Given the description of an element on the screen output the (x, y) to click on. 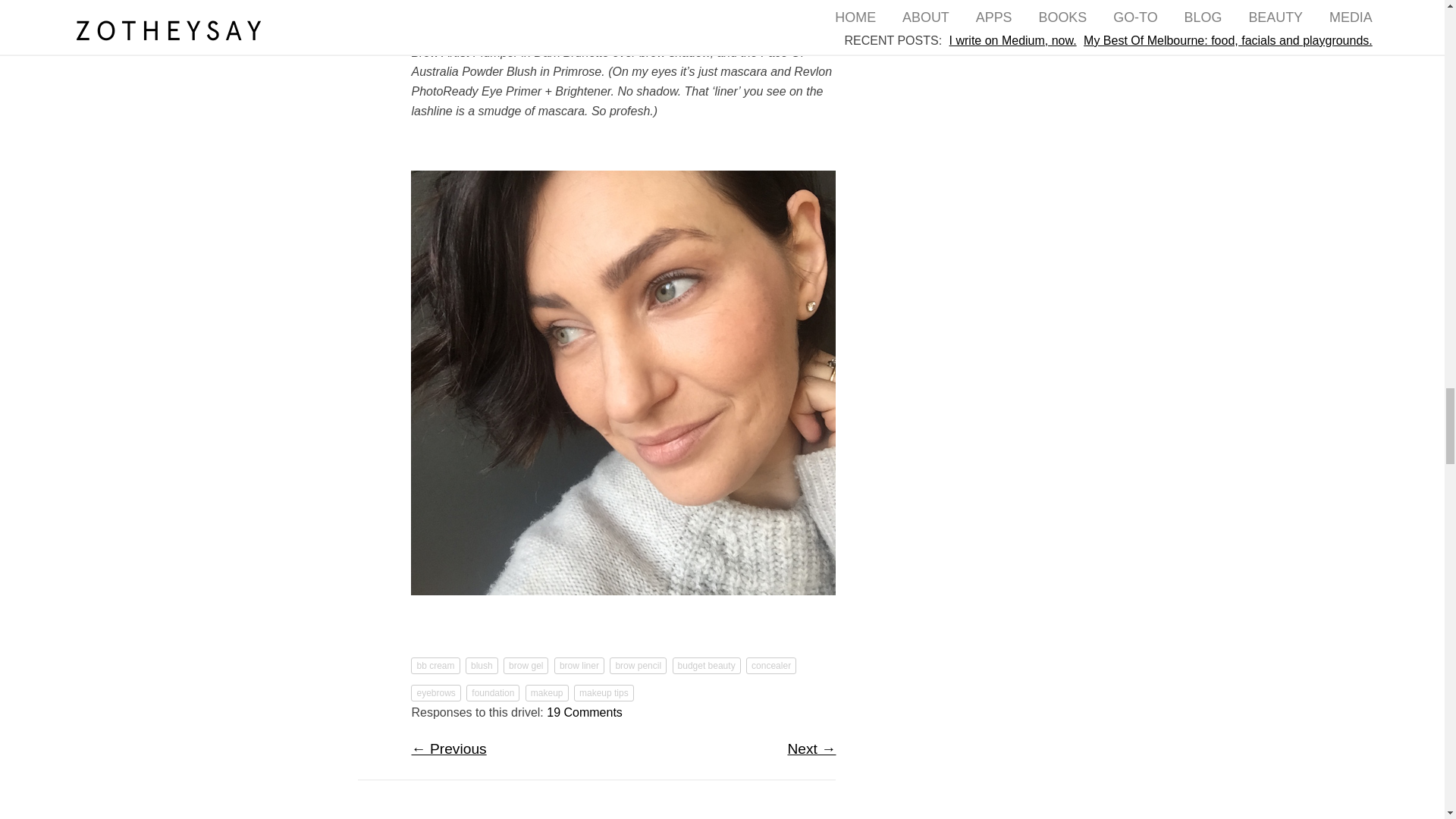
blush (481, 665)
makeup tips (603, 692)
foundation (492, 692)
brow liner (579, 665)
brow pencil (638, 665)
concealer (770, 665)
19 Comments (585, 712)
brow gel (525, 665)
makeup (547, 692)
eyebrows (435, 692)
